Given the description of an element on the screen output the (x, y) to click on. 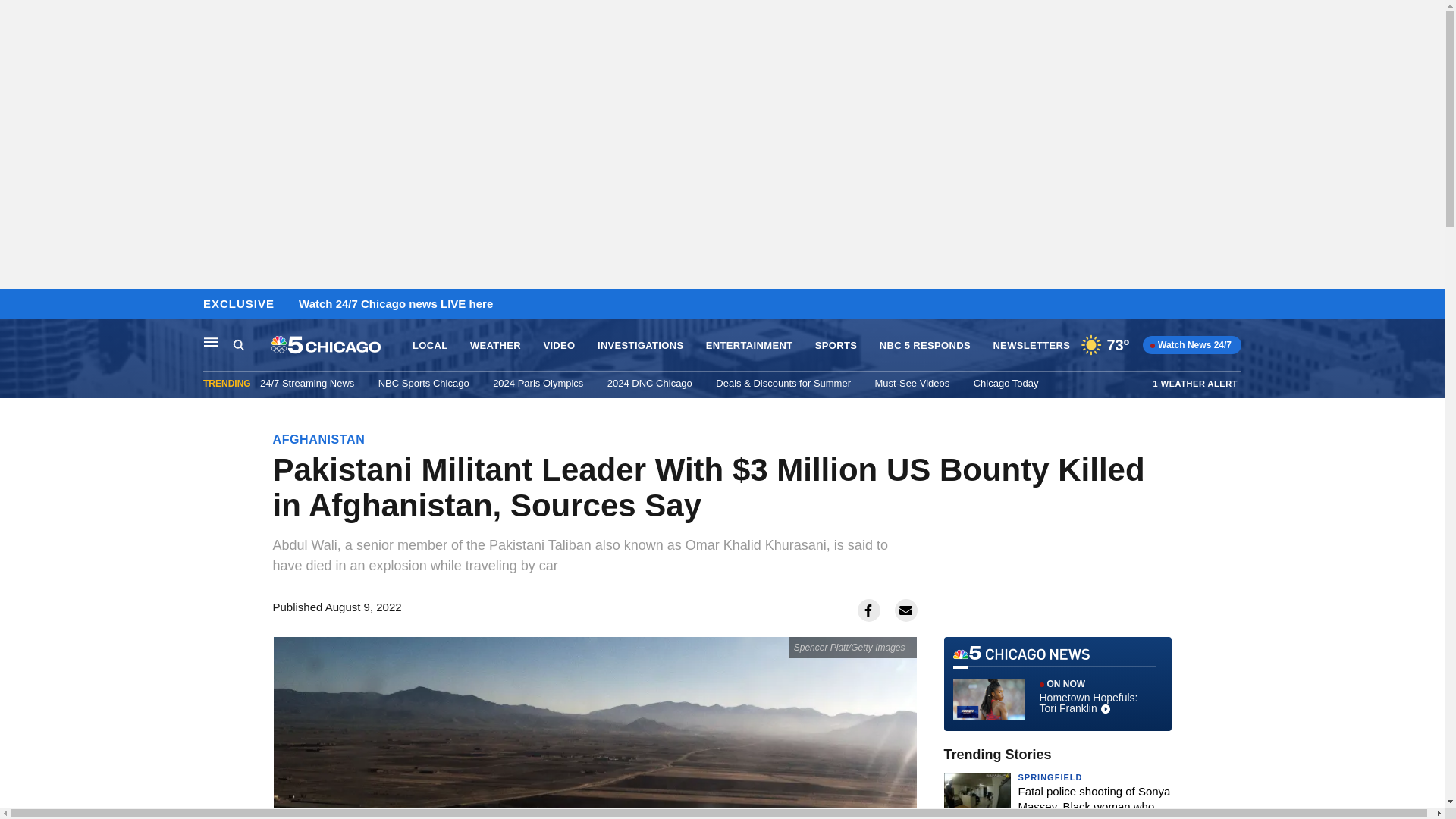
2024 DNC Chicago (650, 383)
1 WEATHER ALERT (1195, 383)
AFGHANISTAN (319, 439)
Search (238, 344)
2024 Paris Olympics (538, 383)
WEATHER (495, 345)
VIDEO (559, 345)
NEWSLETTERS (1031, 345)
Search (252, 345)
NBC Sports Chicago (423, 383)
SPORTS (836, 345)
Chicago Today (1006, 383)
Skip to content (16, 304)
ENTERTAINMENT (749, 345)
Main Navigation (210, 341)
